Given the description of an element on the screen output the (x, y) to click on. 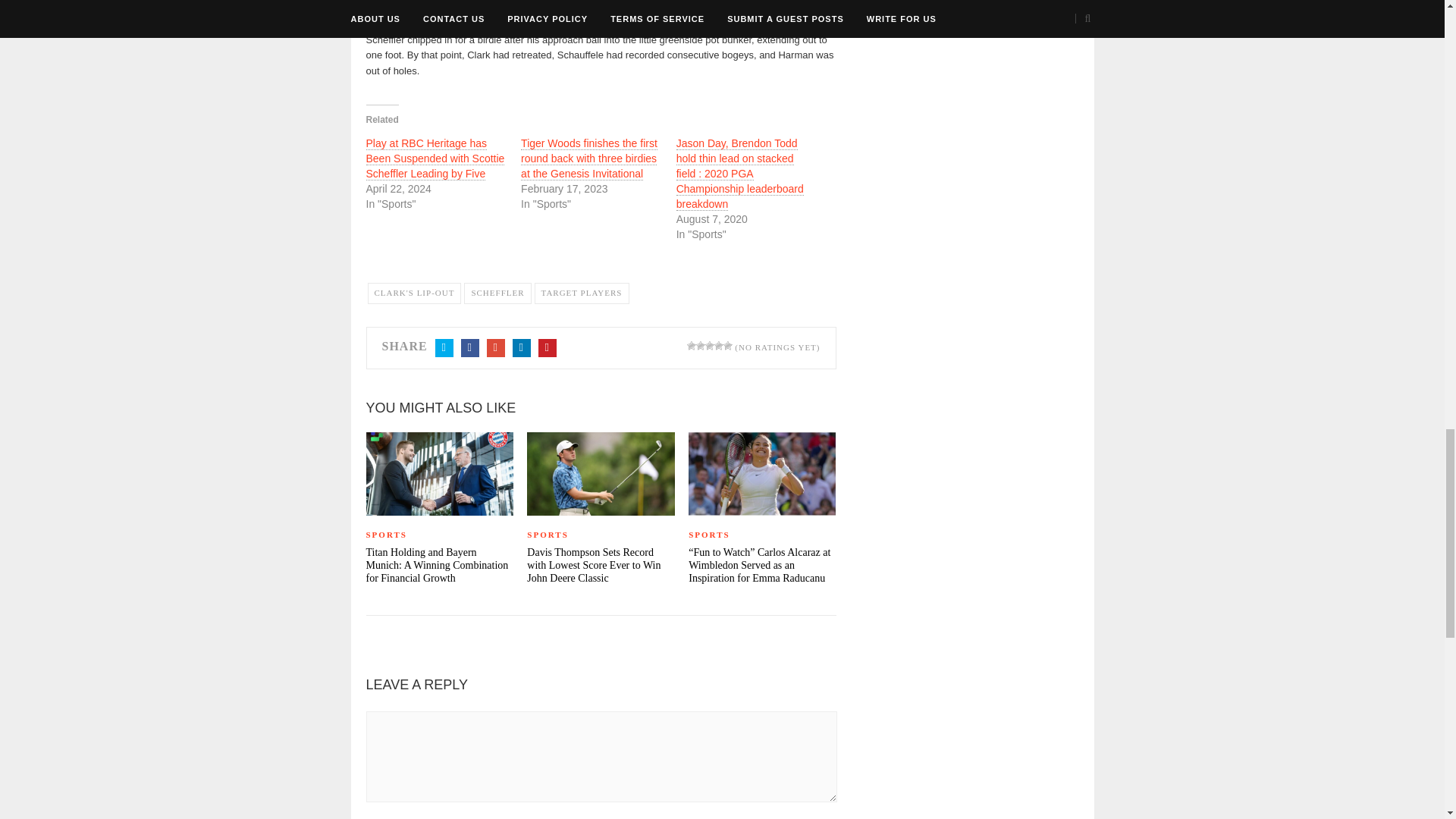
SPORTS (438, 534)
SPORTS (761, 534)
5 Stars (727, 345)
LINKEDIN (521, 348)
TARGET PLAYERS (581, 292)
FACEBOOK (470, 348)
TWITTER (443, 348)
